Given the description of an element on the screen output the (x, y) to click on. 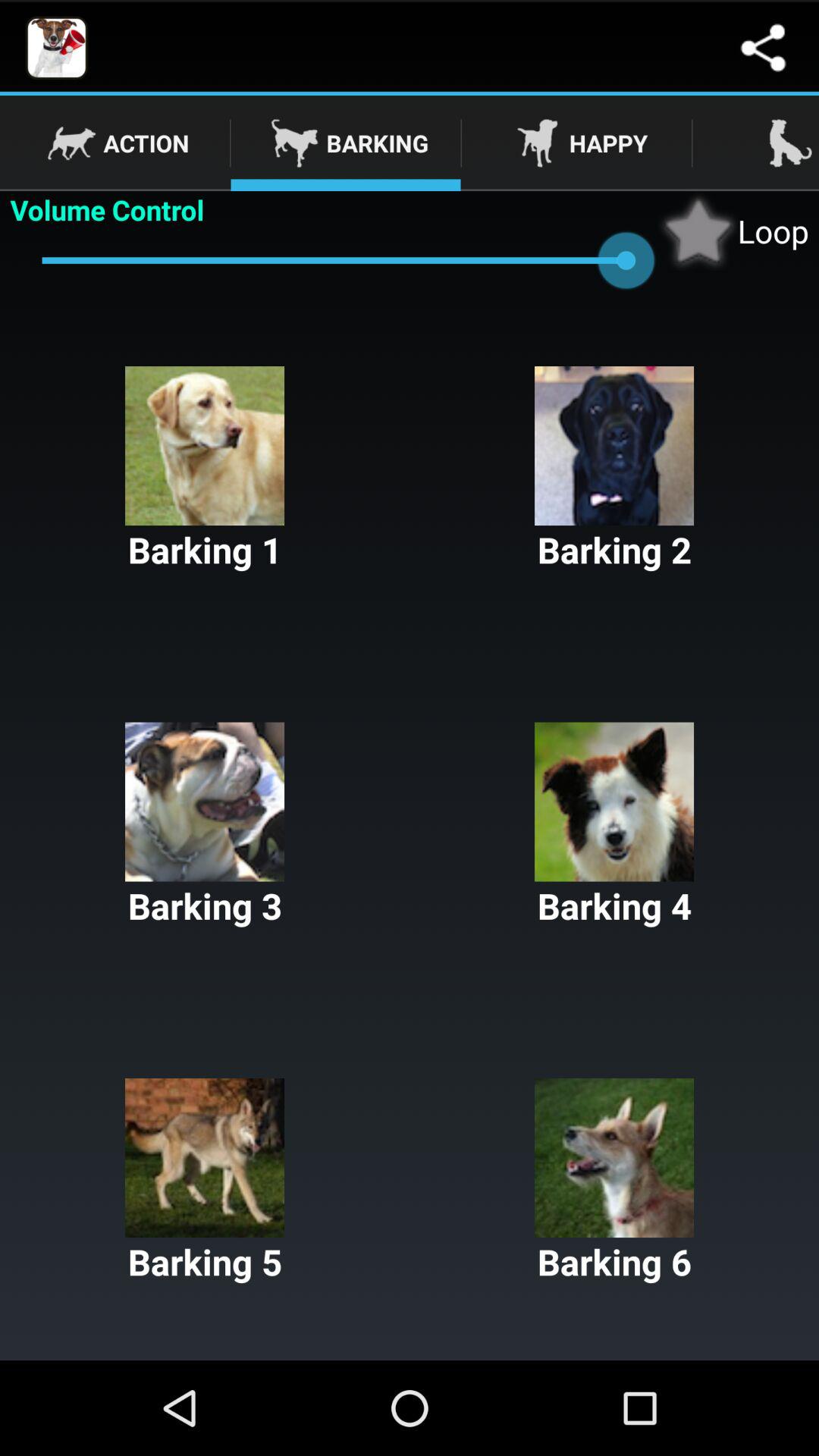
choose the barking 2 (614, 469)
